Given the description of an element on the screen output the (x, y) to click on. 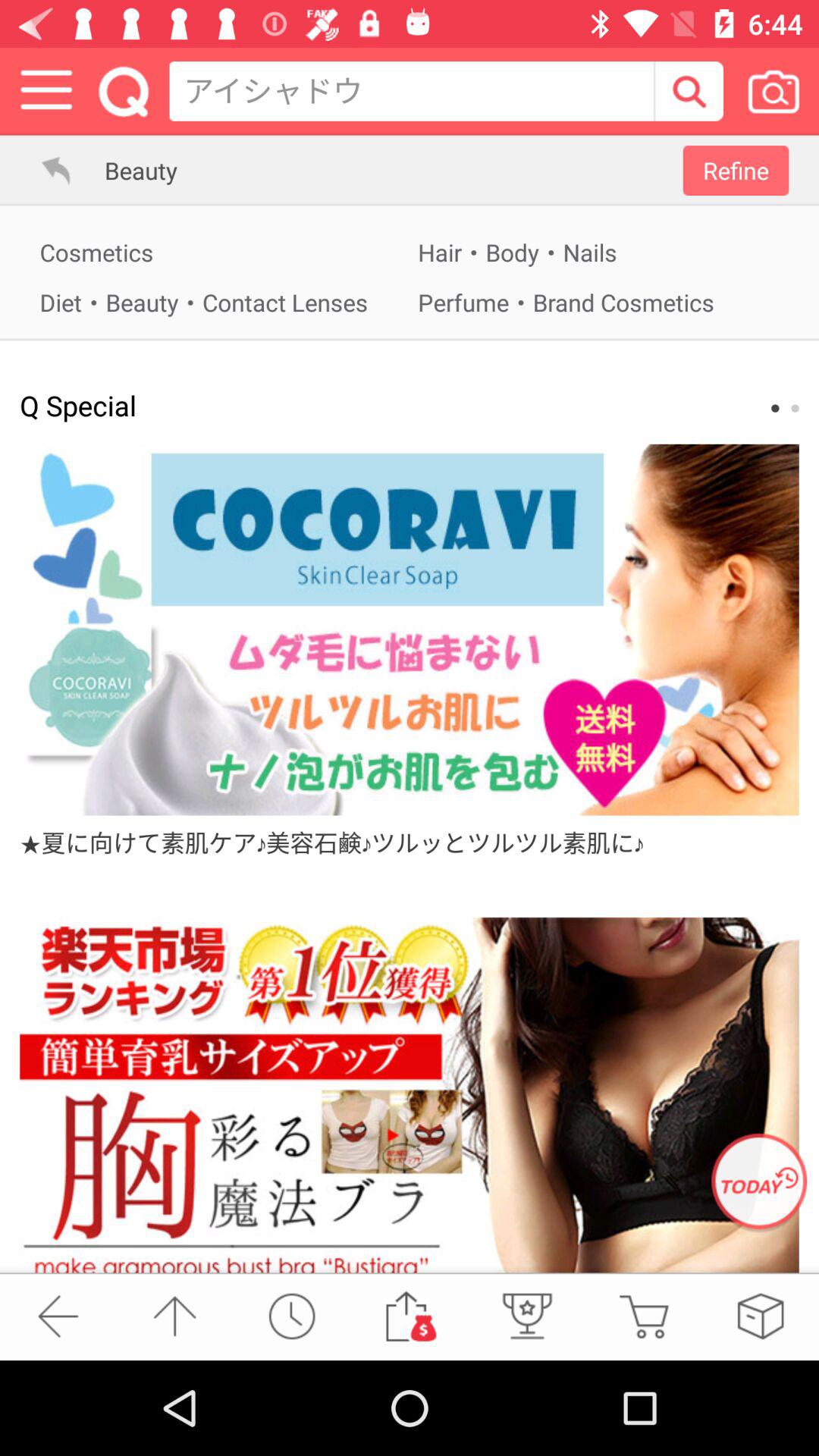
asking today option (759, 1183)
